Given the description of an element on the screen output the (x, y) to click on. 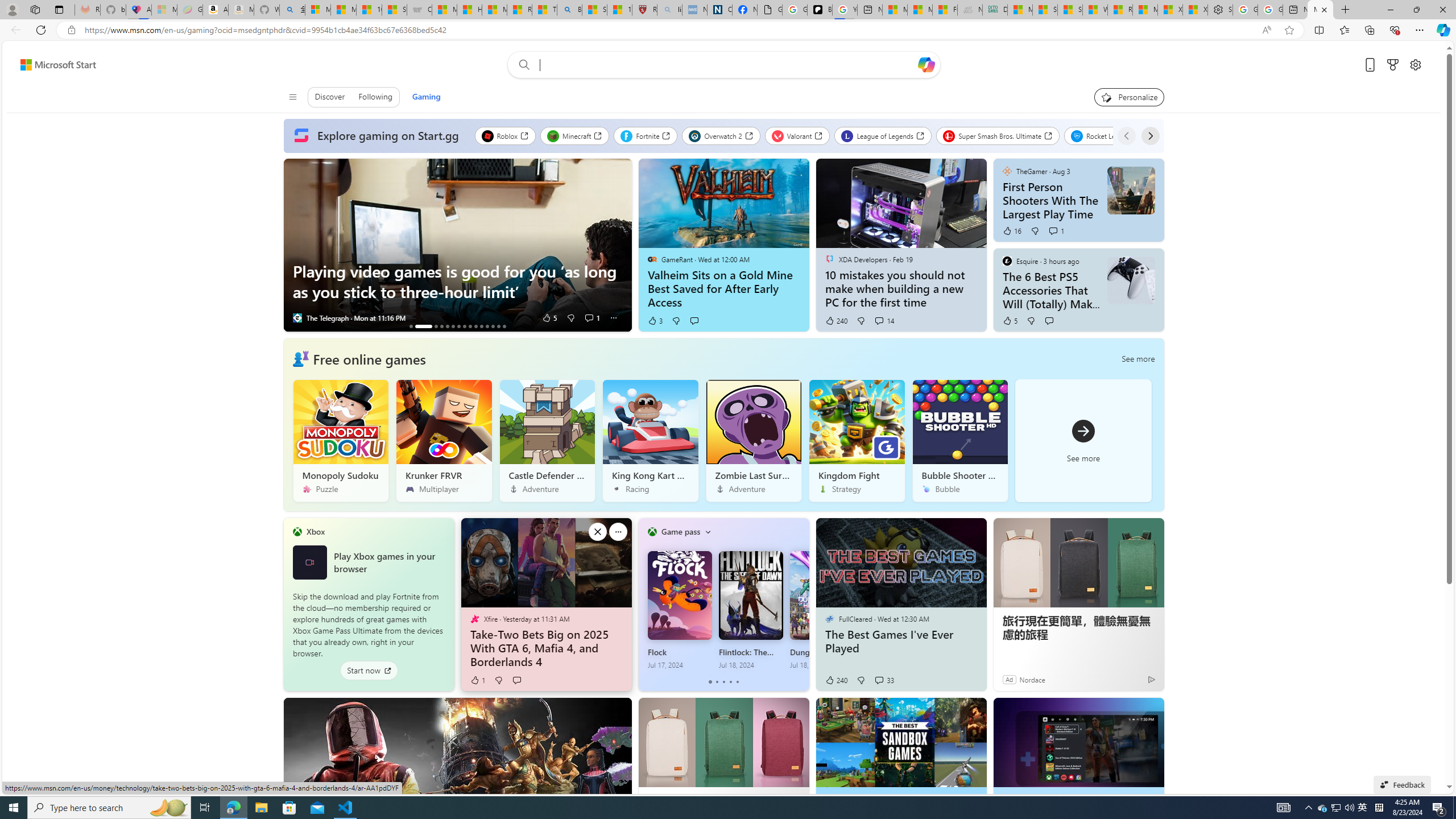
Roblox (504, 135)
FullCleared (829, 618)
tab-0 (709, 682)
Discover (329, 97)
How To Be a Better Human (447, 326)
Hide this story (1129, 711)
View comments 1 Comment (1053, 230)
Previous (1125, 135)
Xbox (314, 531)
Microsoft Start Gaming (1320, 9)
tab-2 (724, 682)
Enter your search term (726, 64)
